Given the description of an element on the screen output the (x, y) to click on. 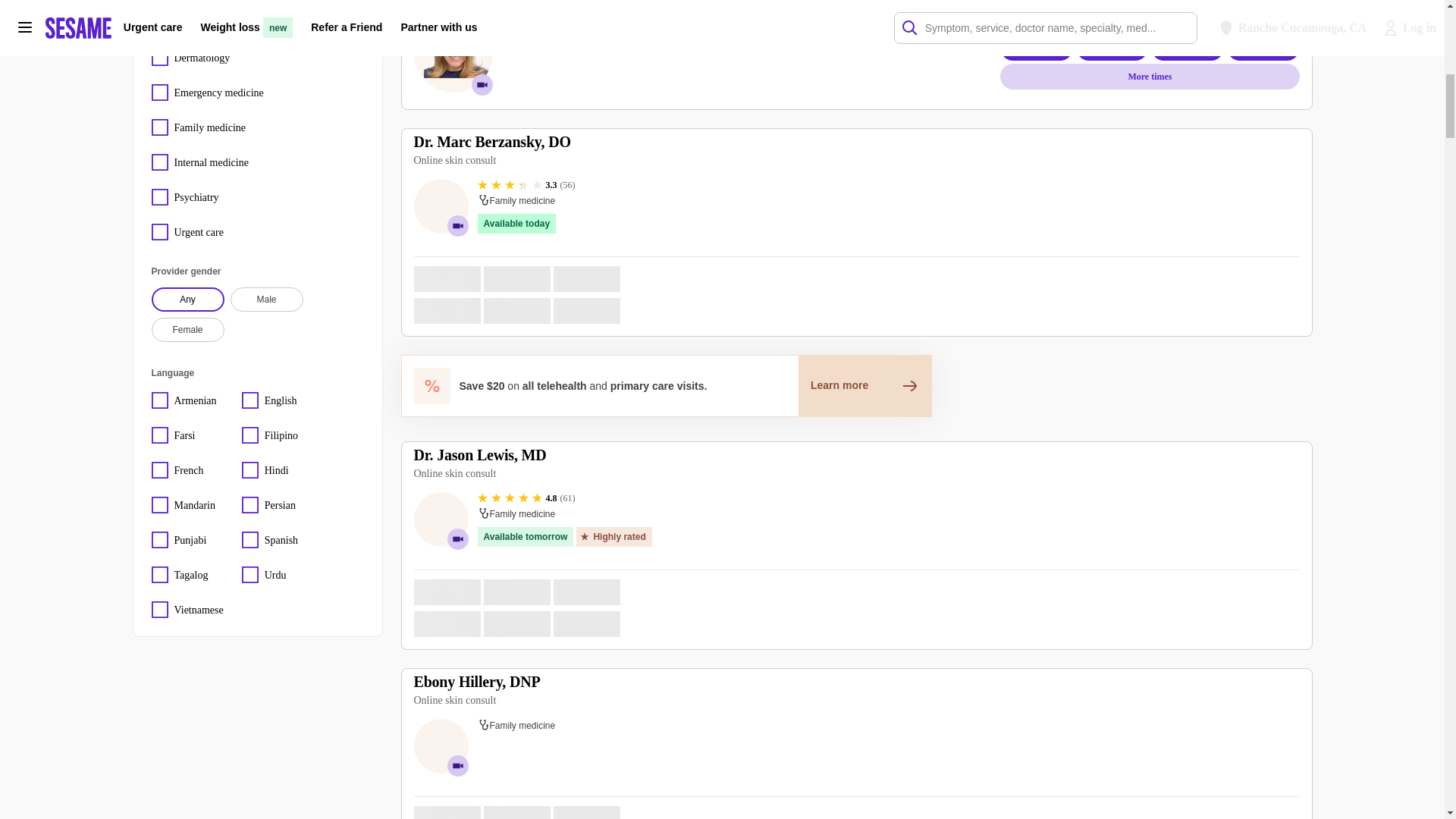
This provider has an overall rating of 5.0 out of 5 stars. (550, 19)
This provider has an overall rating of 4.8 out of 5 stars. (526, 498)
This provider has an overall rating of 3.3 out of 5 stars. (526, 184)
